Given the description of an element on the screen output the (x, y) to click on. 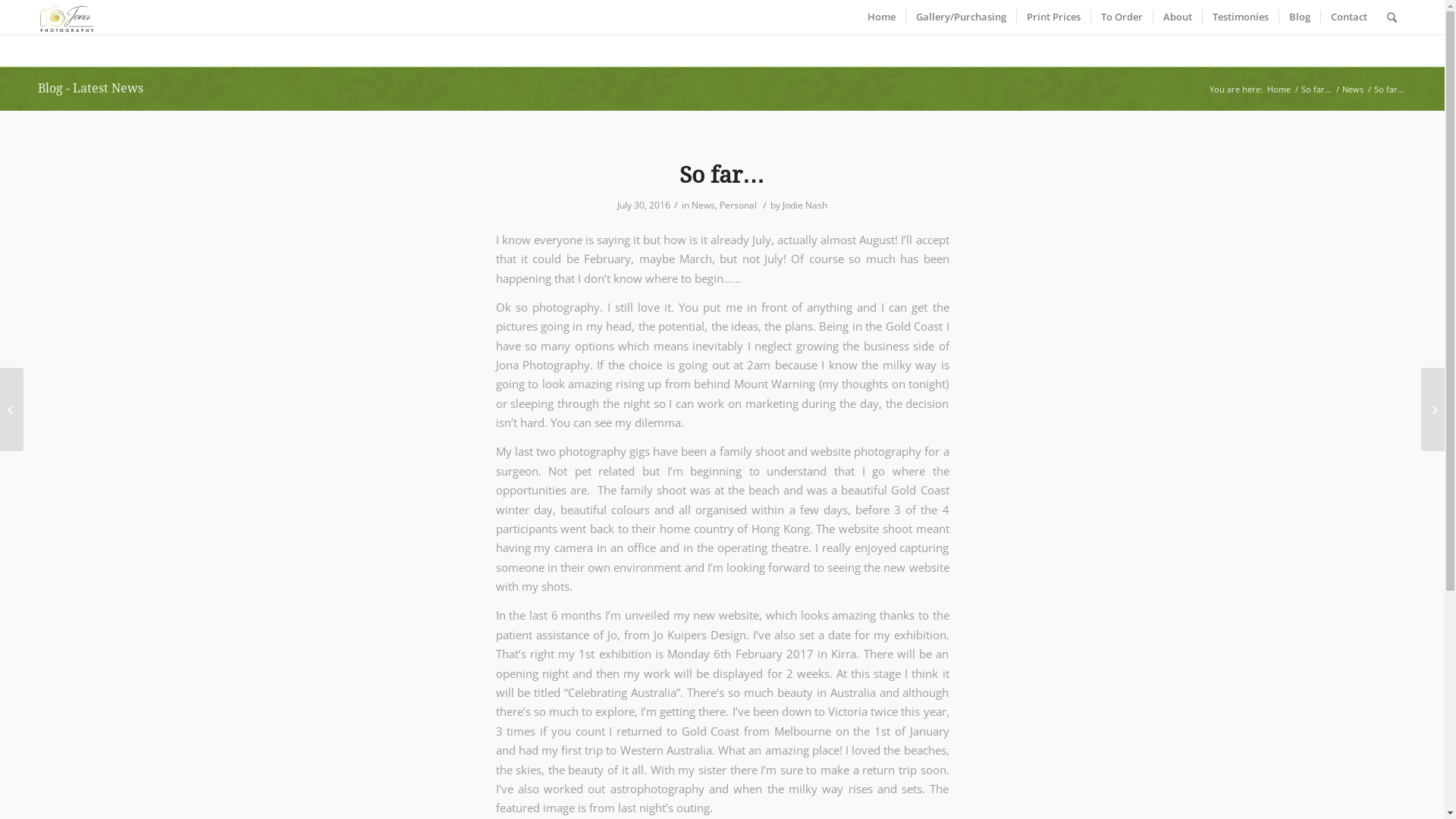
News Element type: text (703, 204)
Testimonies Element type: text (1239, 17)
Home Element type: text (1278, 88)
Jodie Nash Element type: text (804, 204)
Personal Element type: text (737, 204)
Print Prices Element type: text (1053, 17)
Blog Element type: text (1299, 17)
To Order Element type: text (1121, 17)
Contact Element type: text (1348, 17)
News Element type: text (1352, 88)
Gallery/Purchasing Element type: text (960, 17)
Blog - Latest News Element type: text (90, 88)
About Element type: text (1176, 17)
Home Element type: text (881, 17)
